Given the description of an element on the screen output the (x, y) to click on. 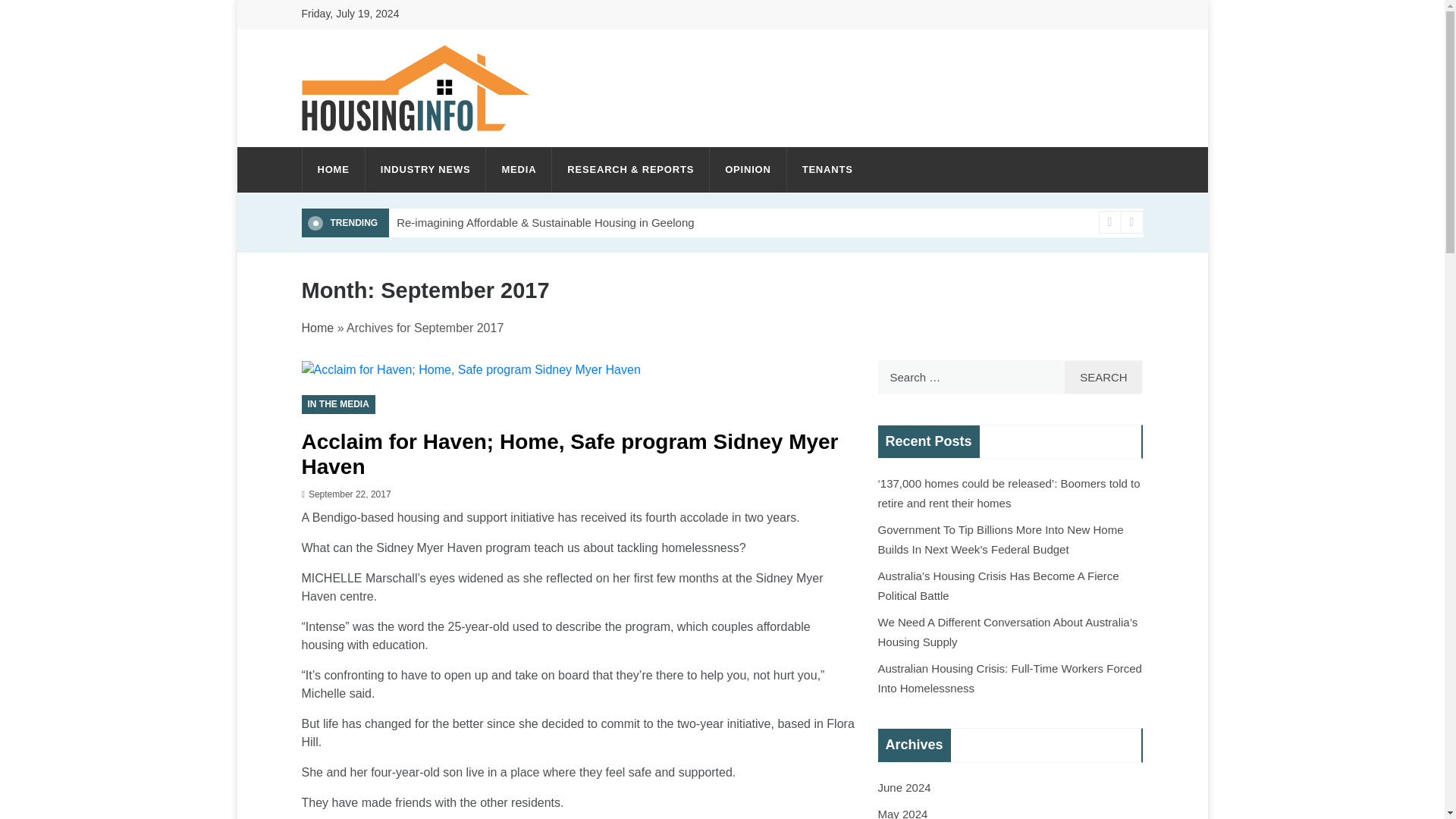
TENANTS (820, 169)
Search (1103, 376)
INDUSTRY NEWS (425, 169)
HousingInfo.com.au (446, 147)
OPINION (748, 169)
MEDIA (518, 169)
Search (1103, 376)
HOME (332, 169)
